Given the description of an element on the screen output the (x, y) to click on. 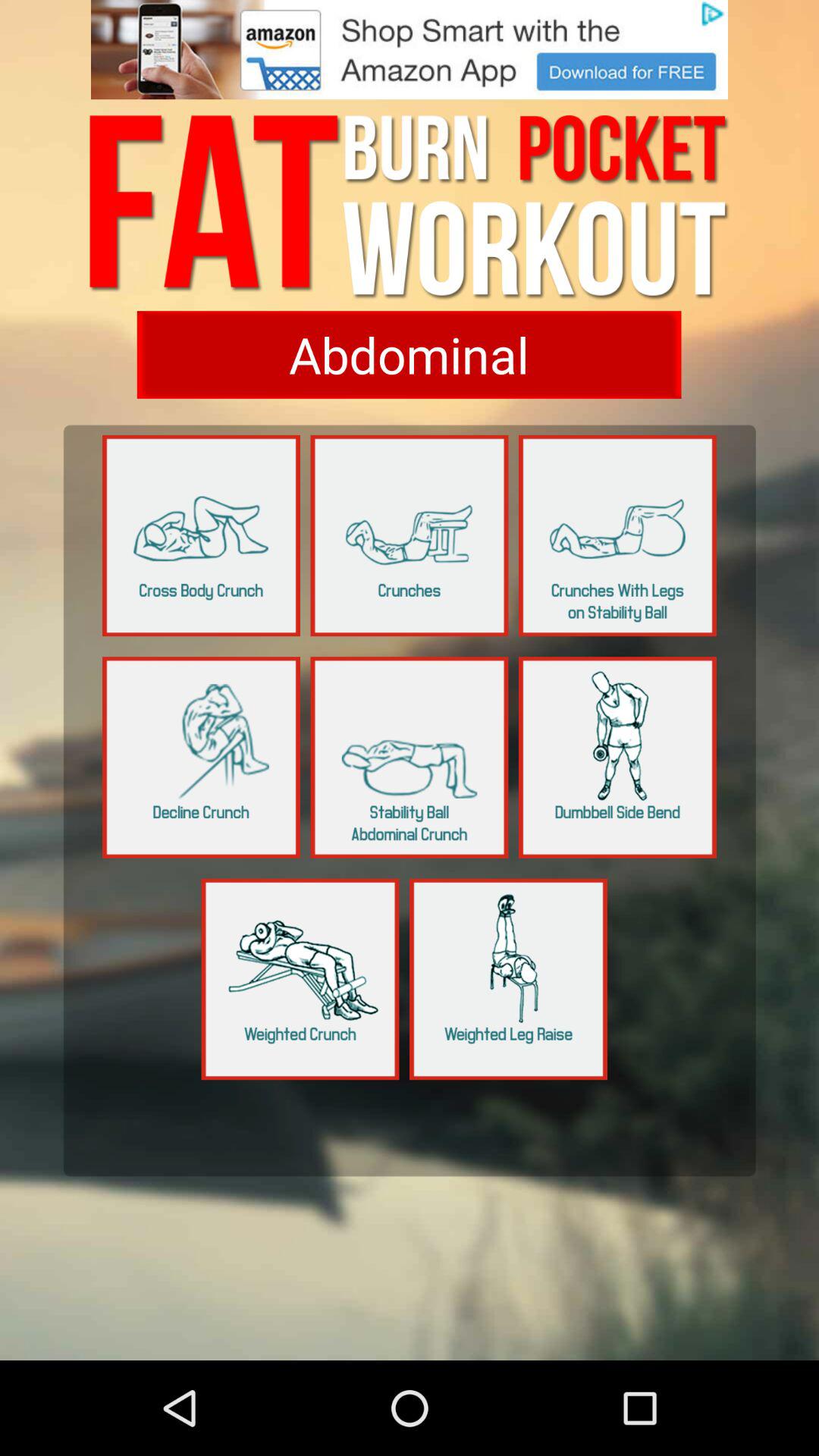
choose the selection (409, 757)
